Given the description of an element on the screen output the (x, y) to click on. 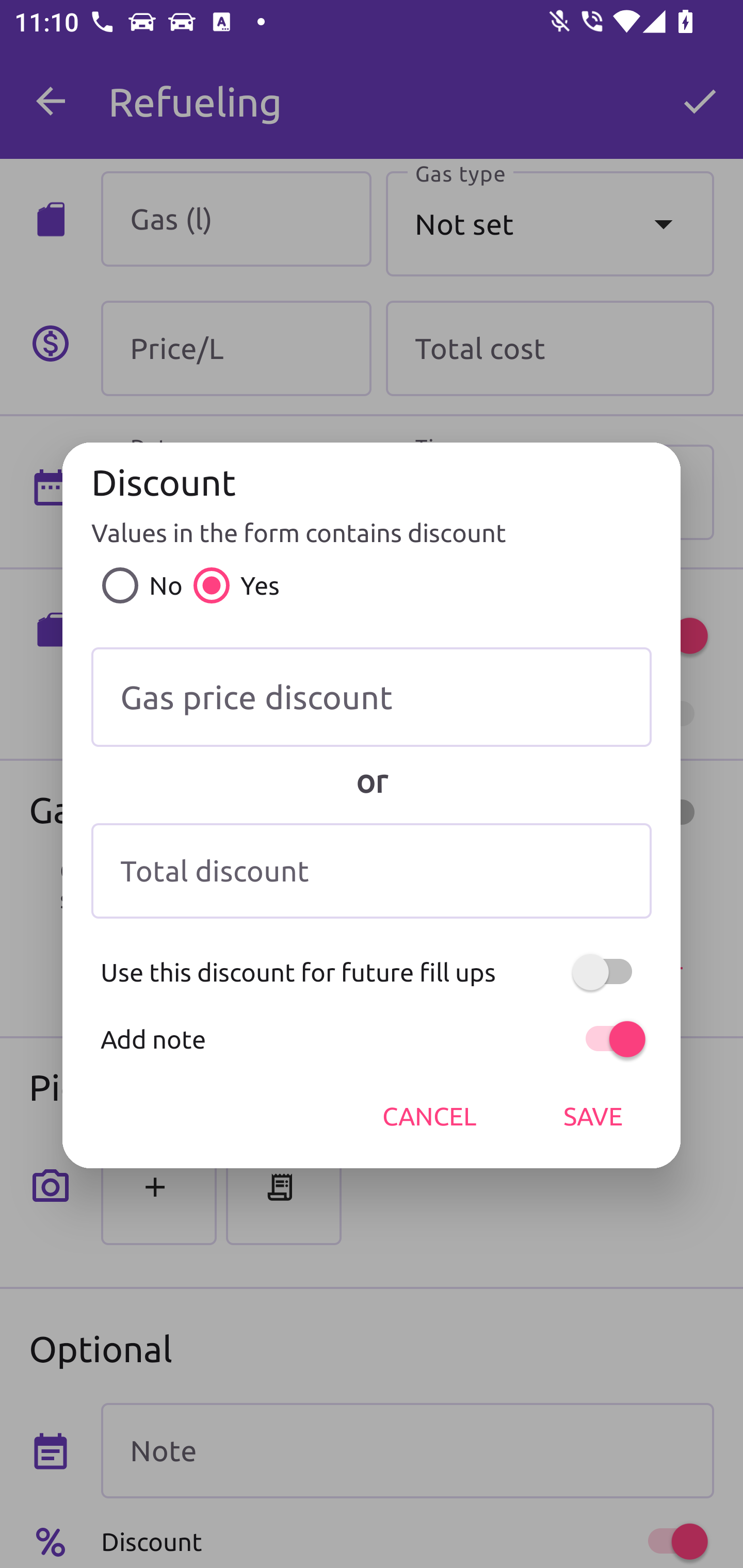
No (136, 584)
Yes (230, 584)
Gas price discount (371, 696)
Total discount (371, 870)
Use this discount for future fill ups (371, 972)
Add note (371, 1038)
CANCEL (429, 1116)
SAVE (593, 1116)
